Given the description of an element on the screen output the (x, y) to click on. 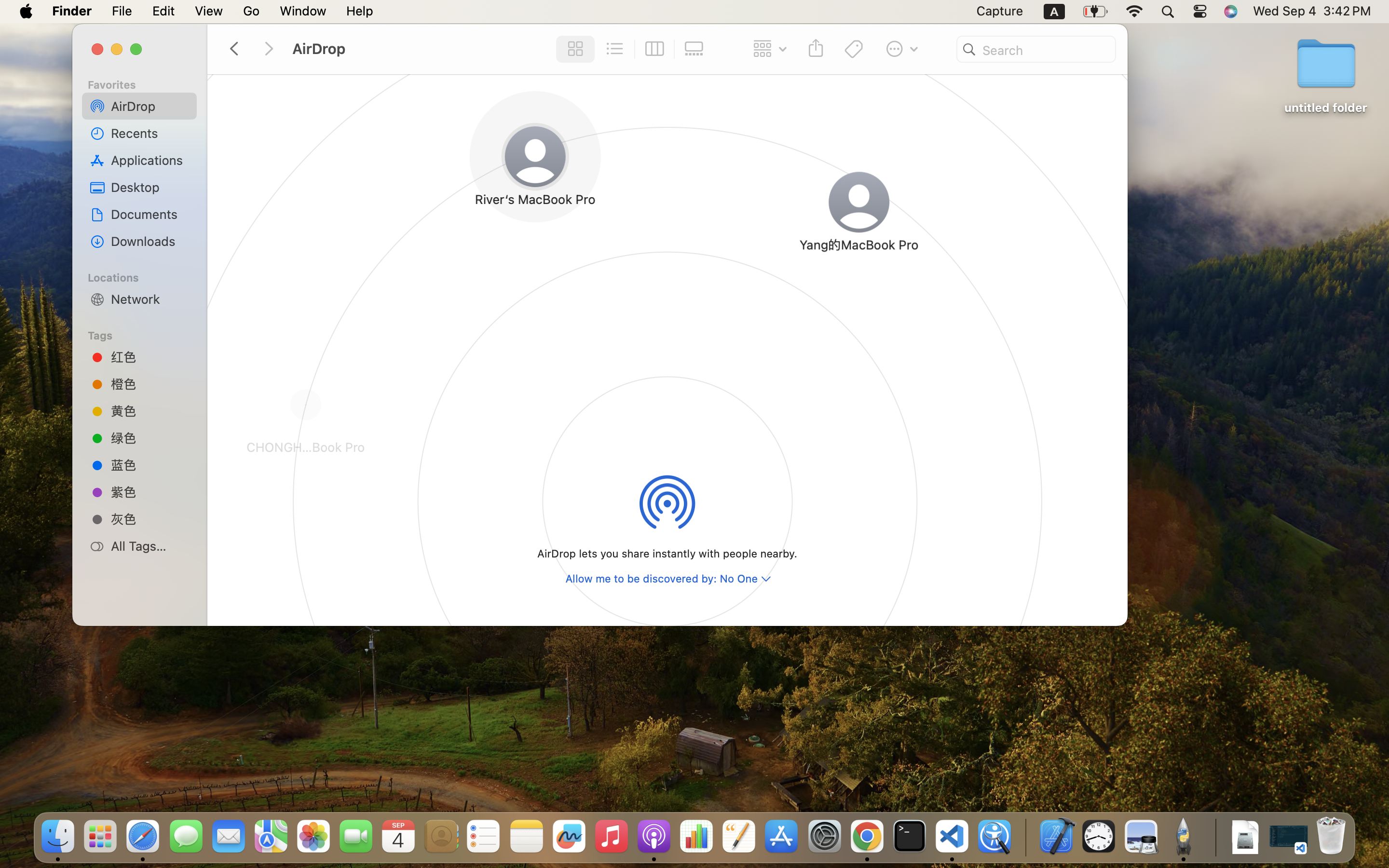
橙色 Element type: AXStaticText (149, 383)
黄色 Element type: AXStaticText (149, 410)
1 Element type: AXRadioButton (572, 48)
绿色 Element type: AXStaticText (149, 437)
Applications Element type: AXStaticText (149, 159)
